Given the description of an element on the screen output the (x, y) to click on. 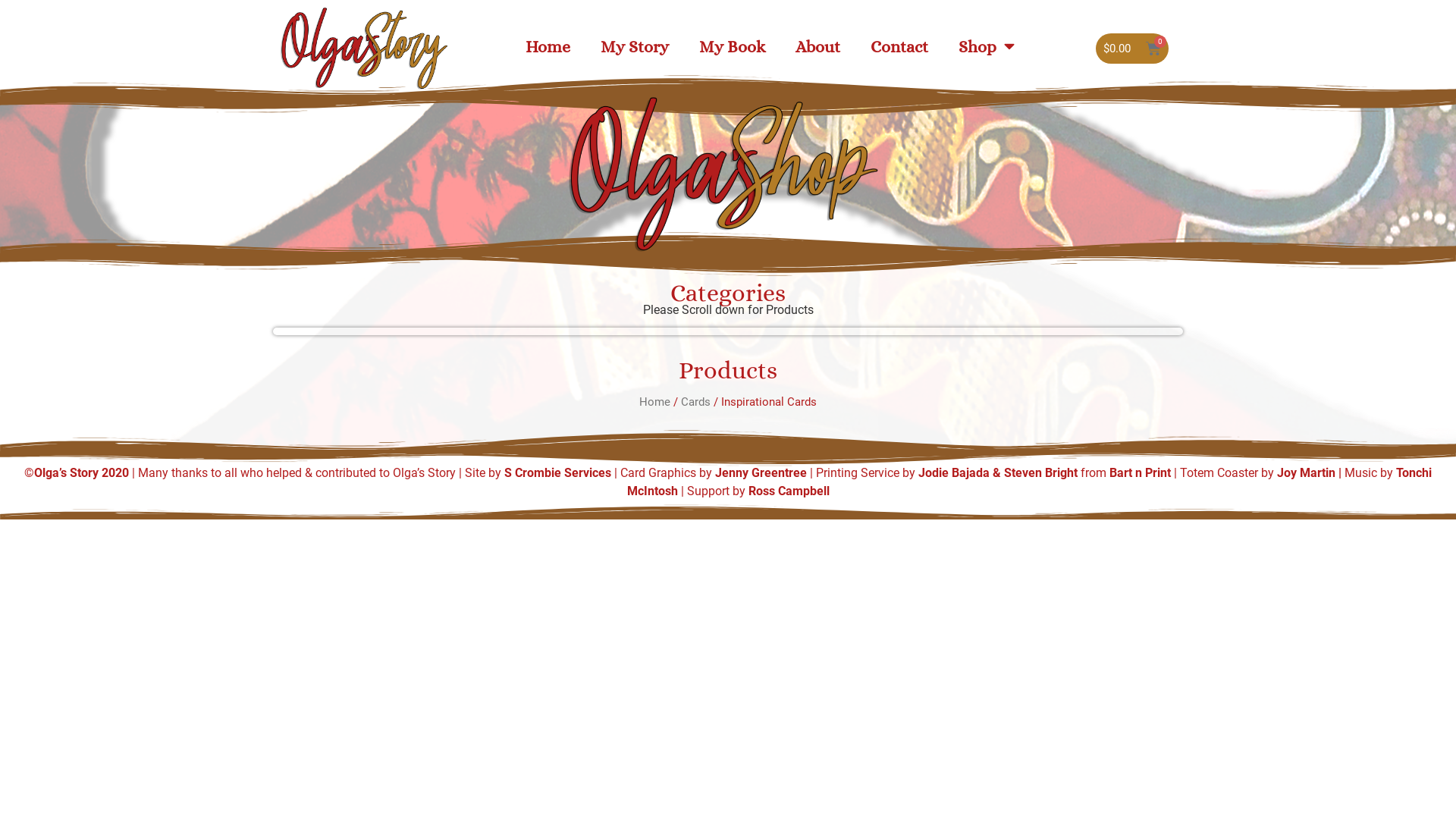
Home Element type: text (654, 401)
My Story Element type: text (634, 46)
My Book Element type: text (732, 46)
Card Graphics by Jenny Greentree Element type: text (714, 472)
$0.00
0 Element type: text (1131, 48)
Cards Element type: text (695, 401)
Home Element type: text (547, 46)
About Element type: text (817, 46)
Contact Element type: text (899, 46)
Shop Element type: text (986, 46)
